Given the description of an element on the screen output the (x, y) to click on. 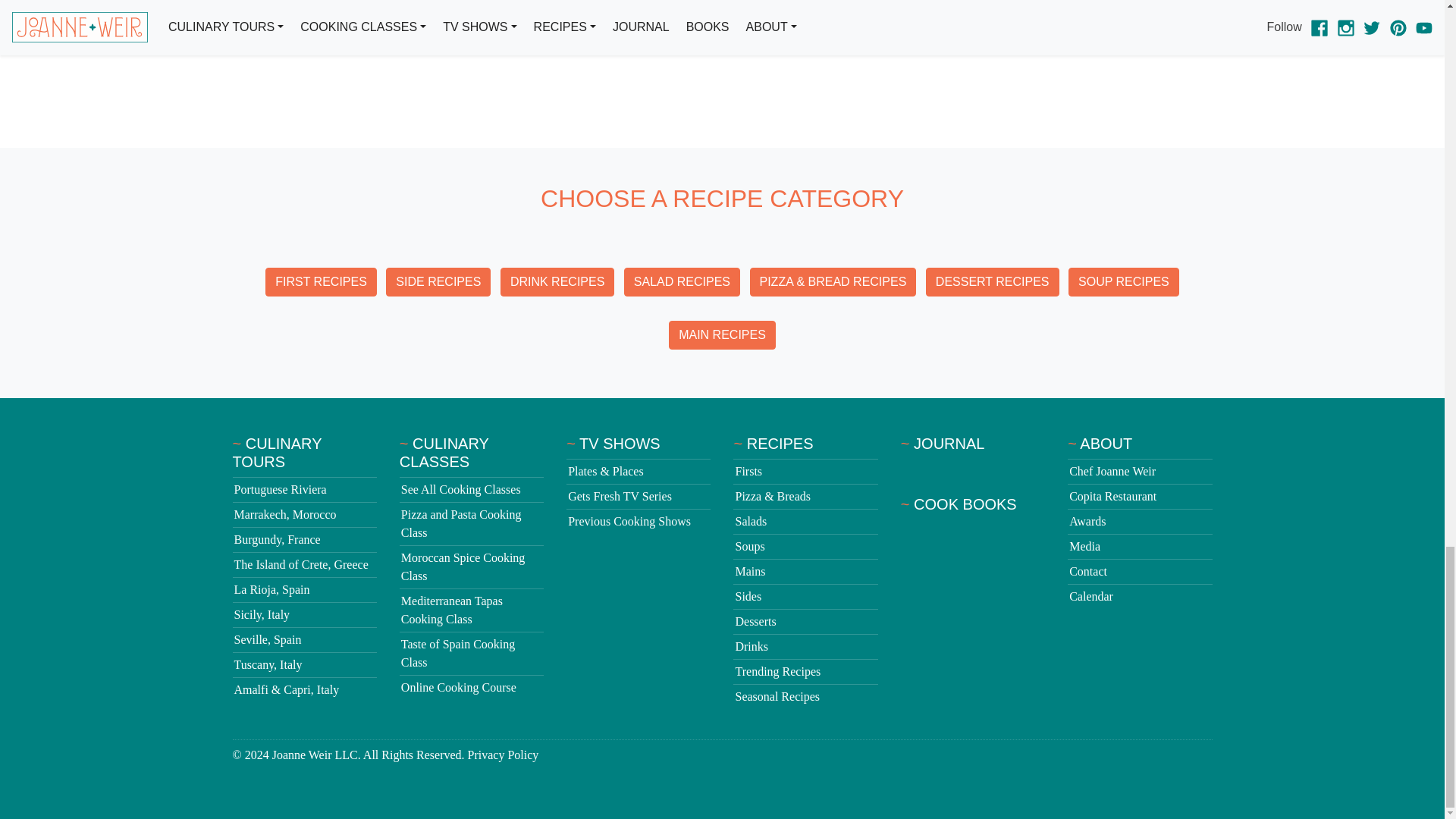
Go (1200, 26)
